Given the description of an element on the screen output the (x, y) to click on. 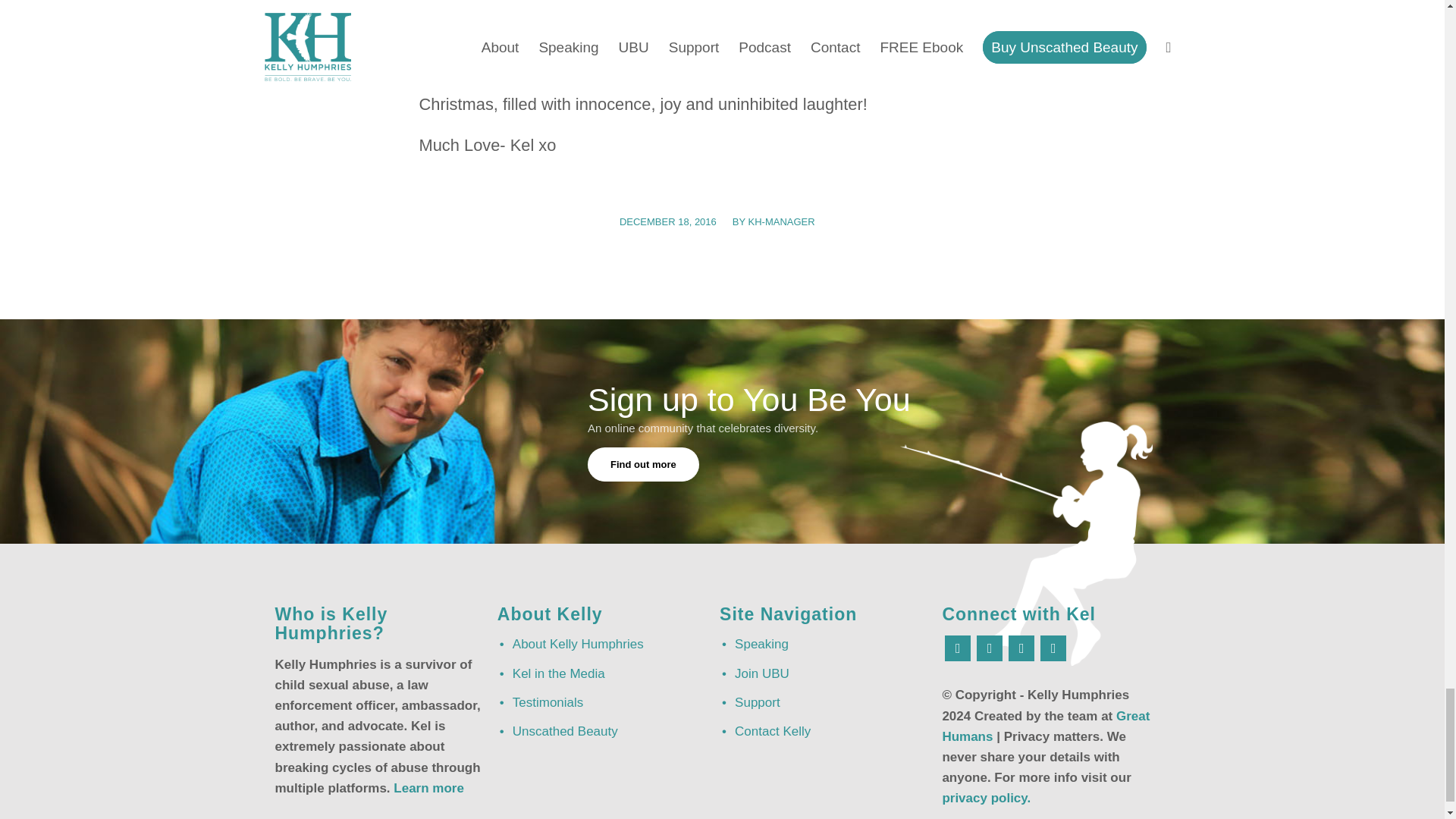
Fishing-Girl (1026, 543)
Find out more (643, 464)
Testimonials (602, 701)
Default Label (1021, 647)
Learn more (428, 788)
Facebook (957, 647)
About Kelly Humphries (602, 644)
KH-MANAGER (781, 221)
Kel in the Media (602, 673)
Instagram (989, 647)
